Given the description of an element on the screen output the (x, y) to click on. 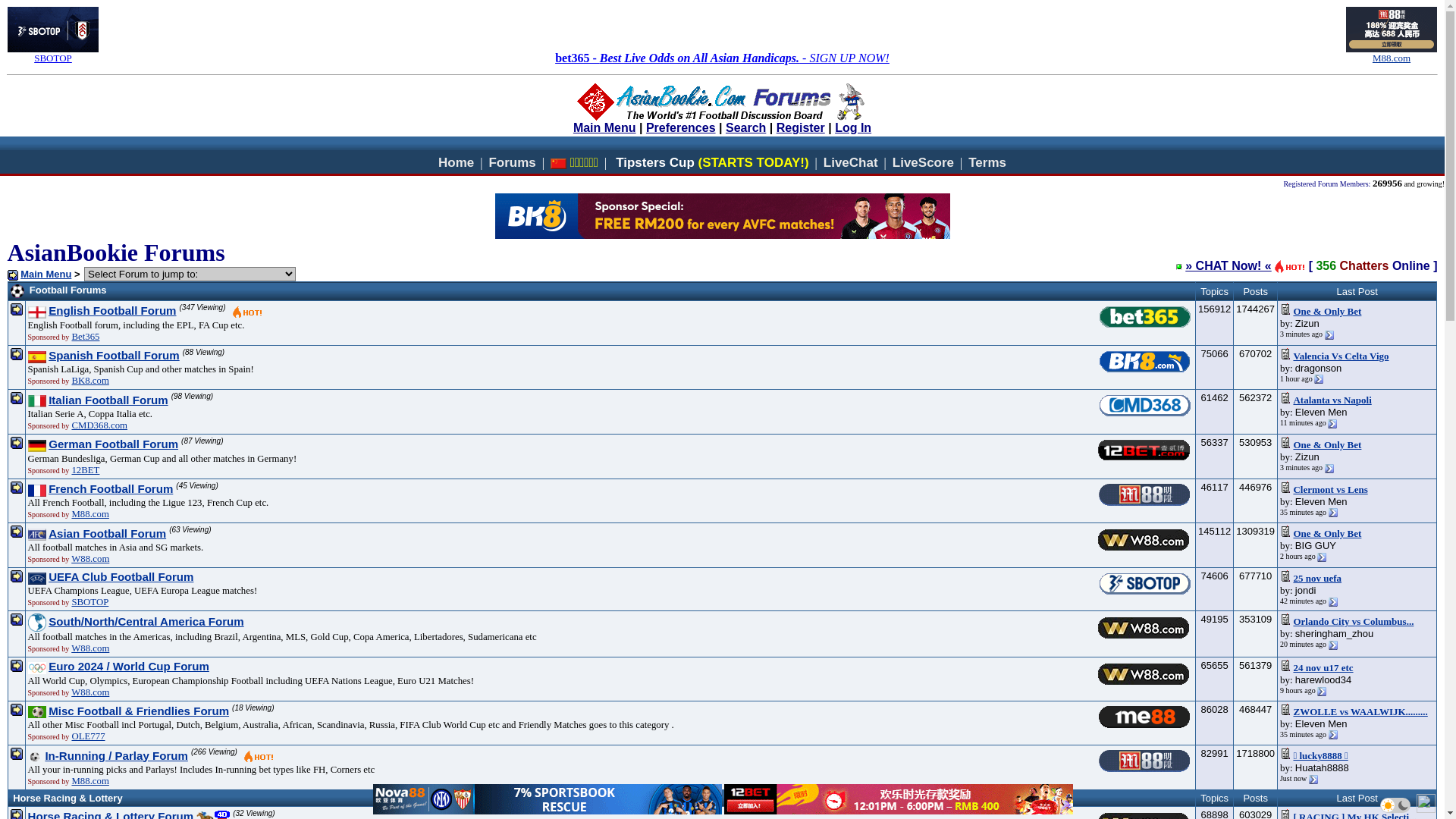
Orlando City vs Columbus... Element type: text (1352, 622)
Log In Element type: text (852, 127)
Spanish Football Forum Element type: text (113, 355)
English Football Forum Element type: text (111, 310)
14 New topics in the Last 6 hrs (88 Viewing) Element type: hover (245, 356)
Go to Last post Element type: hover (1332, 644)
Clermont vs Lens Element type: text (1329, 490)
Go to Last post Element type: hover (1321, 691)
Go to Last post Element type: hover (1318, 378)
UEFA Club Football Forum Element type: text (120, 577)
Main Menu Element type: text (45, 273)
Search Element type: text (745, 127)
Tipsters Cup (STARTS TODAY!) Element type: text (711, 162)
25 nov uefa Element type: text (1316, 578)
AsianBookie.Com Forums Element type: hover (722, 101)
Terms Element type: text (987, 162)
One & Only Bet Element type: text (1326, 311)
W88.com Element type: text (90, 692)
Go to Last post Element type: hover (1331, 423)
19 New topics in the Last 6 hrs (87 Viewing) Element type: hover (244, 445)
Atalanta vs Napoli Element type: text (1331, 400)
Go to Last post Element type: hover (1332, 512)
Go to Last post Element type: hover (1321, 556)
6 New topics in the Last 6 hrs (266 Viewing) Element type: hover (258, 756)
One & Only Bet Element type: text (1326, 445)
Go to Last post Element type: hover (1332, 601)
SBOTOP Element type: text (53, 56)
ZWOLLE vs WAALWIJK......... Element type: text (1359, 712)
LiveScore Element type: text (922, 162)
Enable dark mode Element type: hover (1395, 804)
   Element type: text (35, 756)
Go to Last post Element type: hover (1312, 779)
5 New topics in the Last 6 hrs (18 Viewing) Element type: hover (295, 711)
1 New topics in the Last 6 hrs (5 Viewing) Element type: hover (214, 577)
German Football Forum Element type: text (113, 444)
Italian Football Forum Element type: text (107, 400)
53 New topics in the Last 6 hrs (347 Viewing) Element type: hover (247, 312)
1 New topics in the Last 6 hrs (63 Viewing) Element type: hover (232, 534)
Bet365 Element type: text (85, 336)
Go back to top Element type: hover (1425, 802)
BK8.com Element type: text (89, 380)
4 New topics in the Last 6 hrs (45 Viewing) Element type: hover (239, 489)
Valencia Vs Celta Vigo Element type: text (1340, 356)
French Football Forum Element type: text (110, 489)
24 nov u17 etc Element type: text (1322, 668)
M88.com Element type: text (89, 513)
One & Only Bet Element type: text (1326, 534)
Preferences Element type: text (680, 127)
Misc Football & Friendlies Forum Element type: text (138, 711)
12BET Element type: text (85, 469)
South/North/Central America Forum Element type: text (145, 621)
Go to Last post Element type: hover (1328, 468)
W88.com Element type: text (90, 558)
2 New topics in the Last 6 hrs (8 Viewing) Element type: hover (265, 622)
Home Element type: text (455, 162)
Main Menu Element type: text (604, 129)
Forums Element type: text (511, 162)
10 New topics in the Last 6 hrs (98 Viewing) Element type: hover (234, 400)
Register Element type: text (800, 127)
In-Running / Parlay Forum Element type: text (115, 756)
Go to Last post Element type: hover (1332, 734)
Euro 2024 / World Cup Forum Element type: text (128, 666)
CMD368.com Element type: text (99, 425)
Go to Last post Element type: hover (1328, 334)
M88.com Element type: text (1391, 56)
LiveChat Element type: text (850, 162)
0 New topics in the Last 6 hrs (4 Viewing) Element type: hover (230, 667)
M88.com Element type: text (89, 780)
W88.com Element type: text (90, 648)
SBOTOP Element type: text (89, 601)
Asian Football Forum Element type: text (107, 533)
OLE777 Element type: text (87, 736)
